Given the description of an element on the screen output the (x, y) to click on. 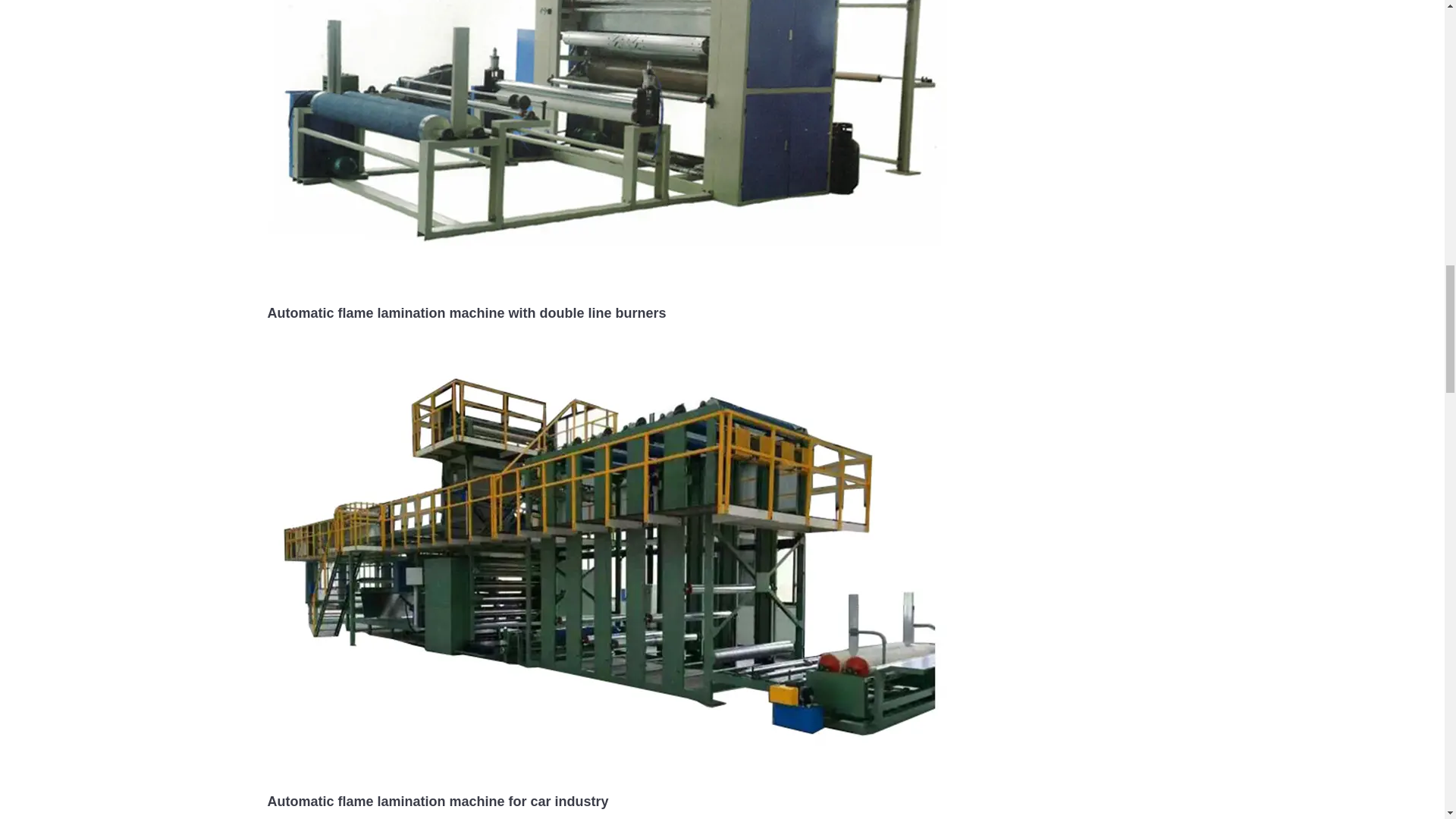
Automatic flame lamination machine with double line burners (465, 313)
Automatic flame lamination machine for car industry (607, 560)
Automatic flame lamination machine for car industry (437, 801)
Automatic flame lamination machine with double line burners (465, 313)
Automatic flame lamination machine with double line burners (607, 71)
Automatic flame lamination machine for car industry (437, 801)
